Given the description of an element on the screen output the (x, y) to click on. 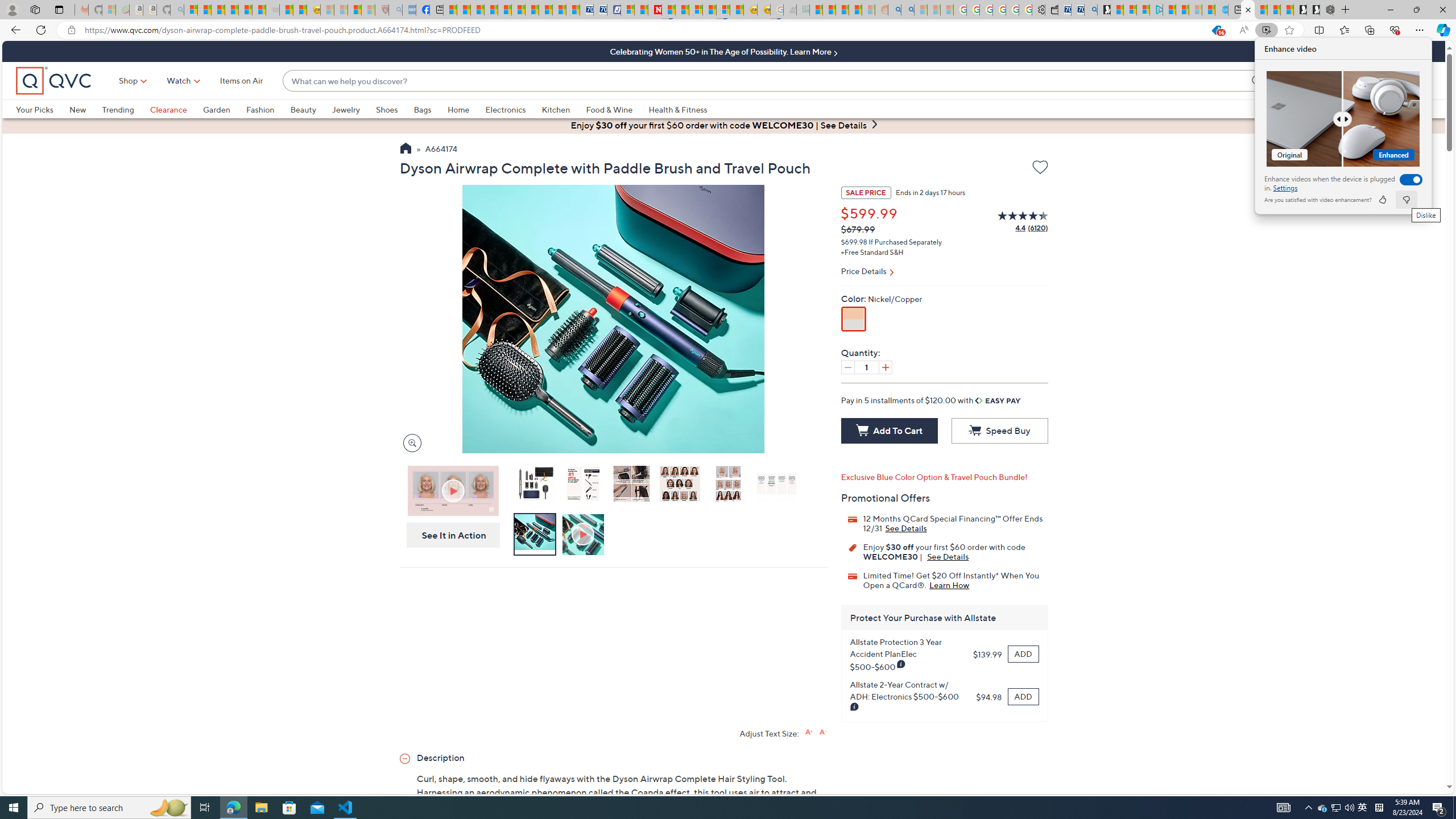
Pay in 5 installments of $120.00 with Easy Pay (931, 399)
Shoes (394, 109)
Description (612, 756)
Enhance videos (1407, 179)
You have the best price! (1216, 29)
Bags (429, 109)
See It in Action (449, 534)
Electronics (504, 109)
The Weather Channel - MSN (218, 9)
